Given the description of an element on the screen output the (x, y) to click on. 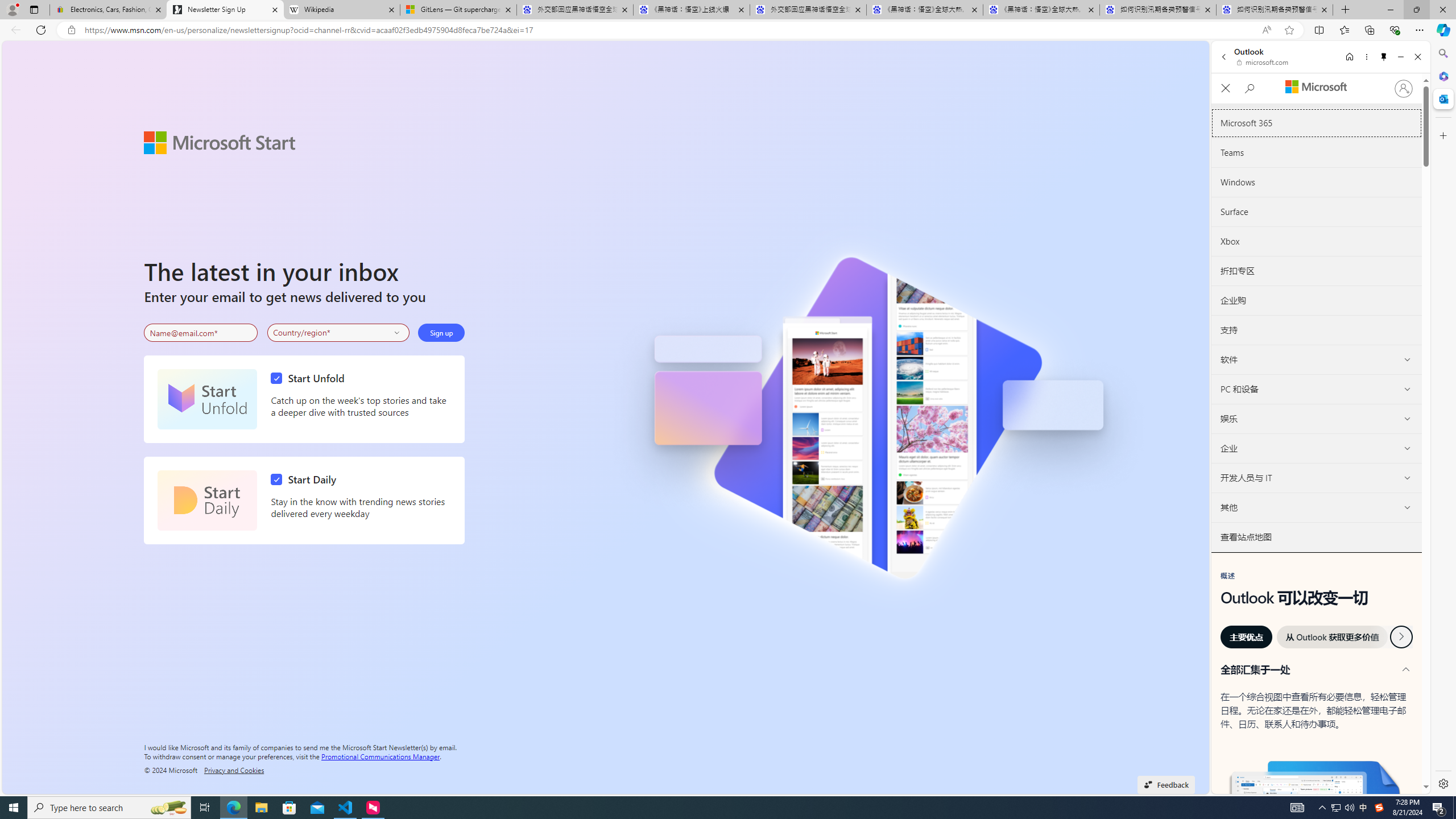
Surface (1316, 211)
Sign up (441, 332)
Start Unfold (207, 399)
Enter your email (200, 332)
Close All Microsoft list (1225, 88)
